Given the description of an element on the screen output the (x, y) to click on. 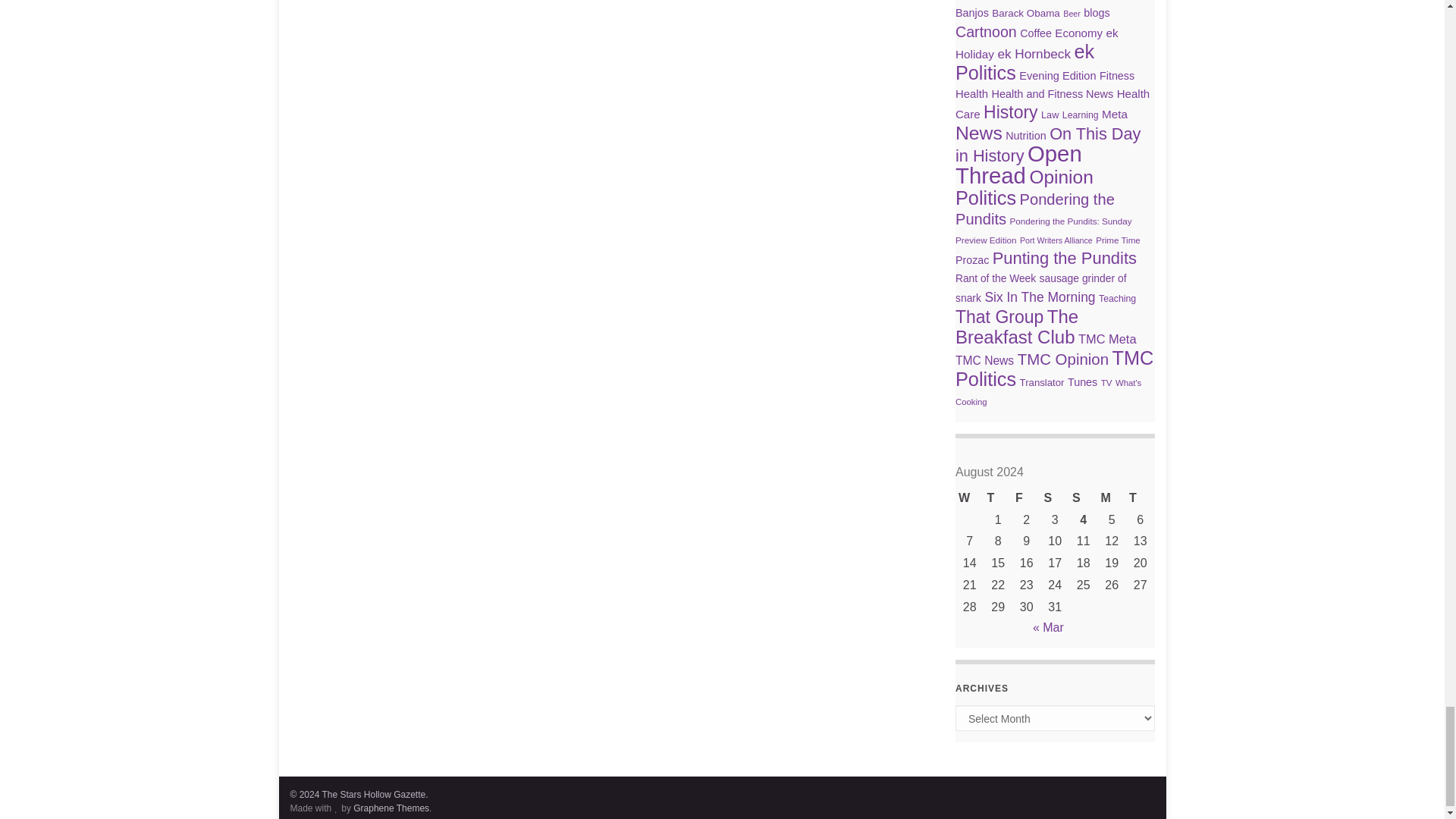
Tuesday (1139, 498)
Saturday (1054, 498)
Friday (1026, 498)
Wednesday (969, 498)
Sunday (1082, 498)
Monday (1111, 498)
Thursday (998, 498)
